Given the description of an element on the screen output the (x, y) to click on. 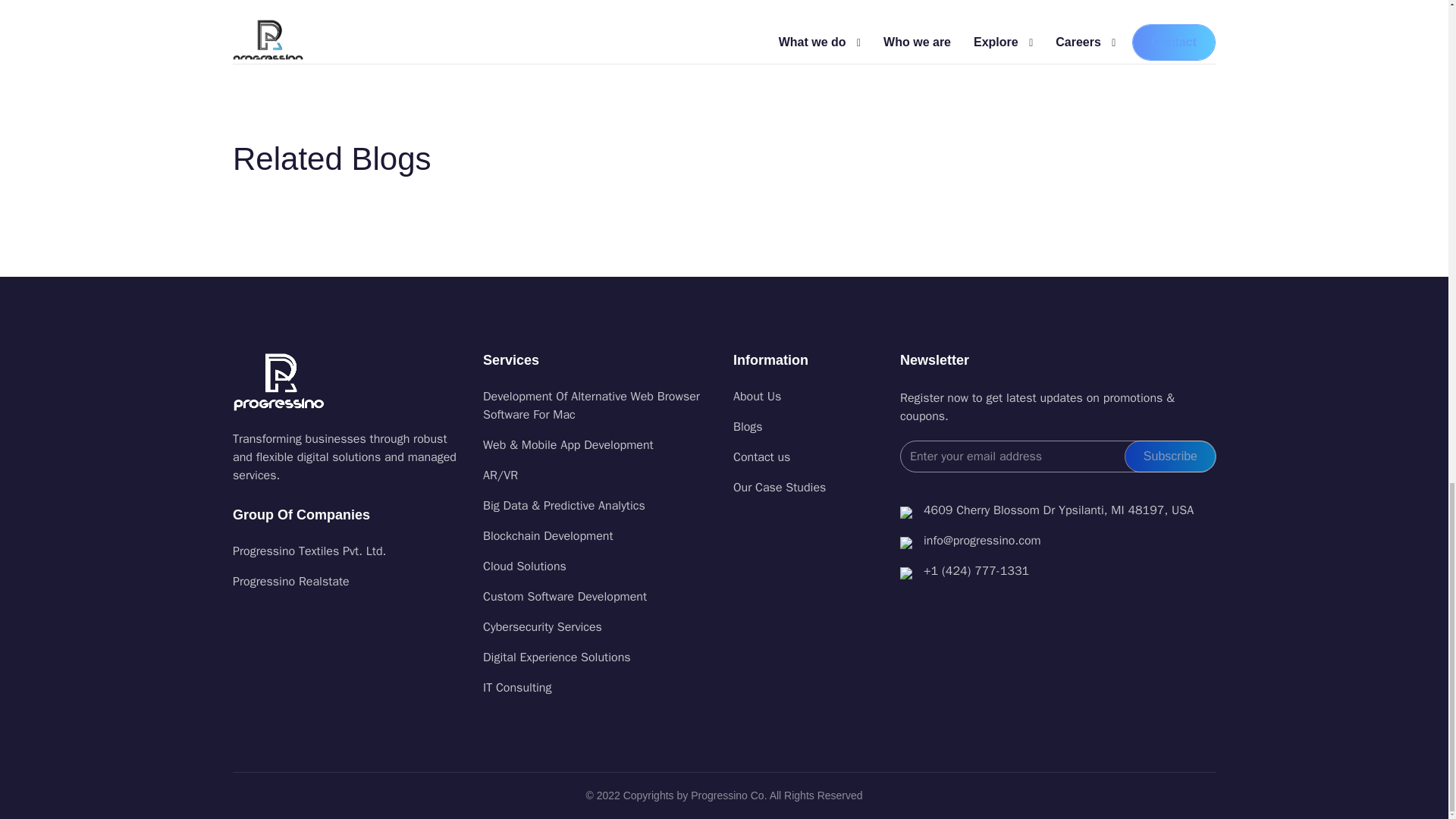
Cloud Solutions (598, 566)
Progressino Realstate (290, 581)
Blockchain Development (598, 536)
About Us (807, 396)
Progressino Textiles Pvt. Ltd. (308, 550)
Our Case Studies (807, 487)
Development Of Alternative Web Browser Software For Mac (598, 405)
IT Consulting (598, 687)
Subscribe (1169, 456)
Contact us (807, 456)
